Given the description of an element on the screen output the (x, y) to click on. 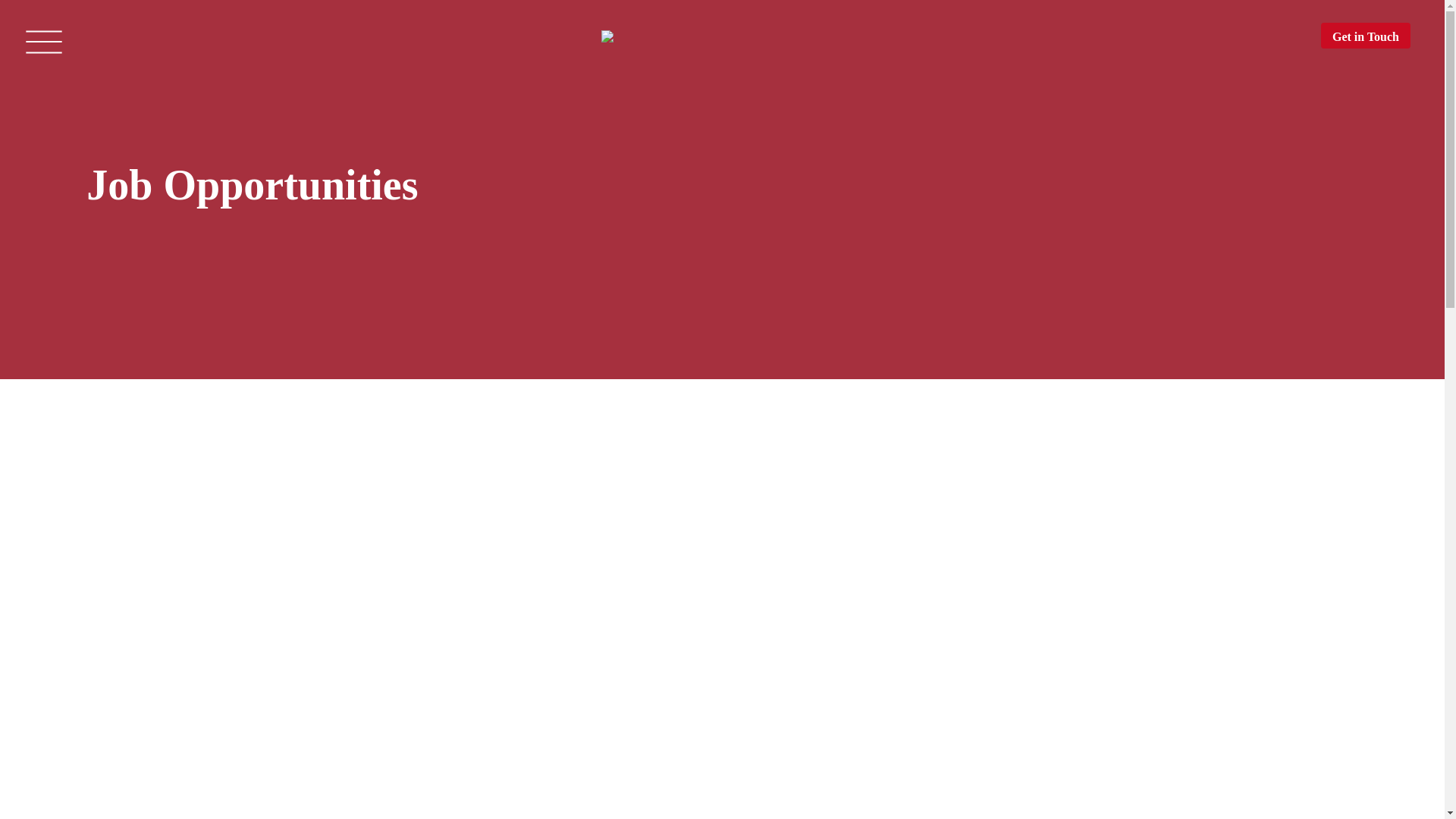
Get in Touch (1365, 35)
